Given the description of an element on the screen output the (x, y) to click on. 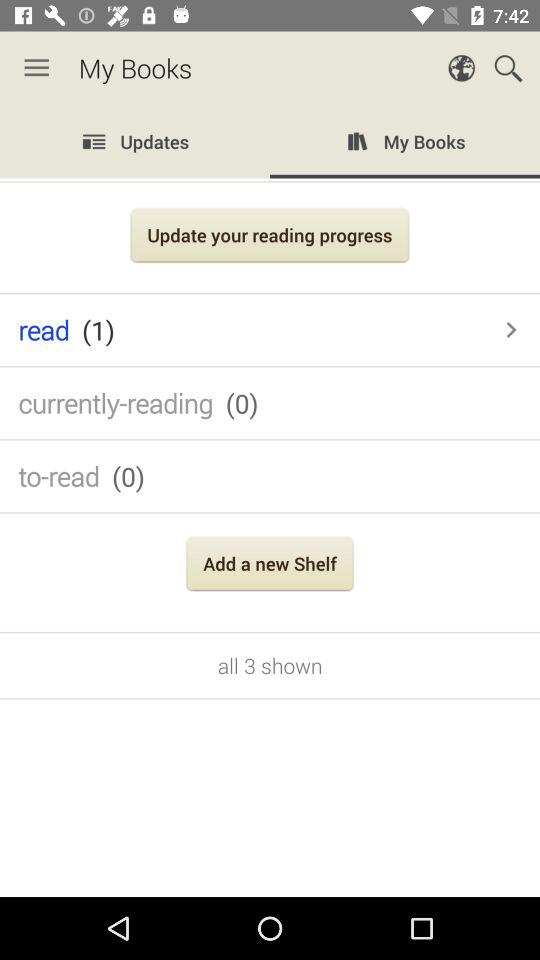
tap the update your reading item (269, 237)
